Given the description of an element on the screen output the (x, y) to click on. 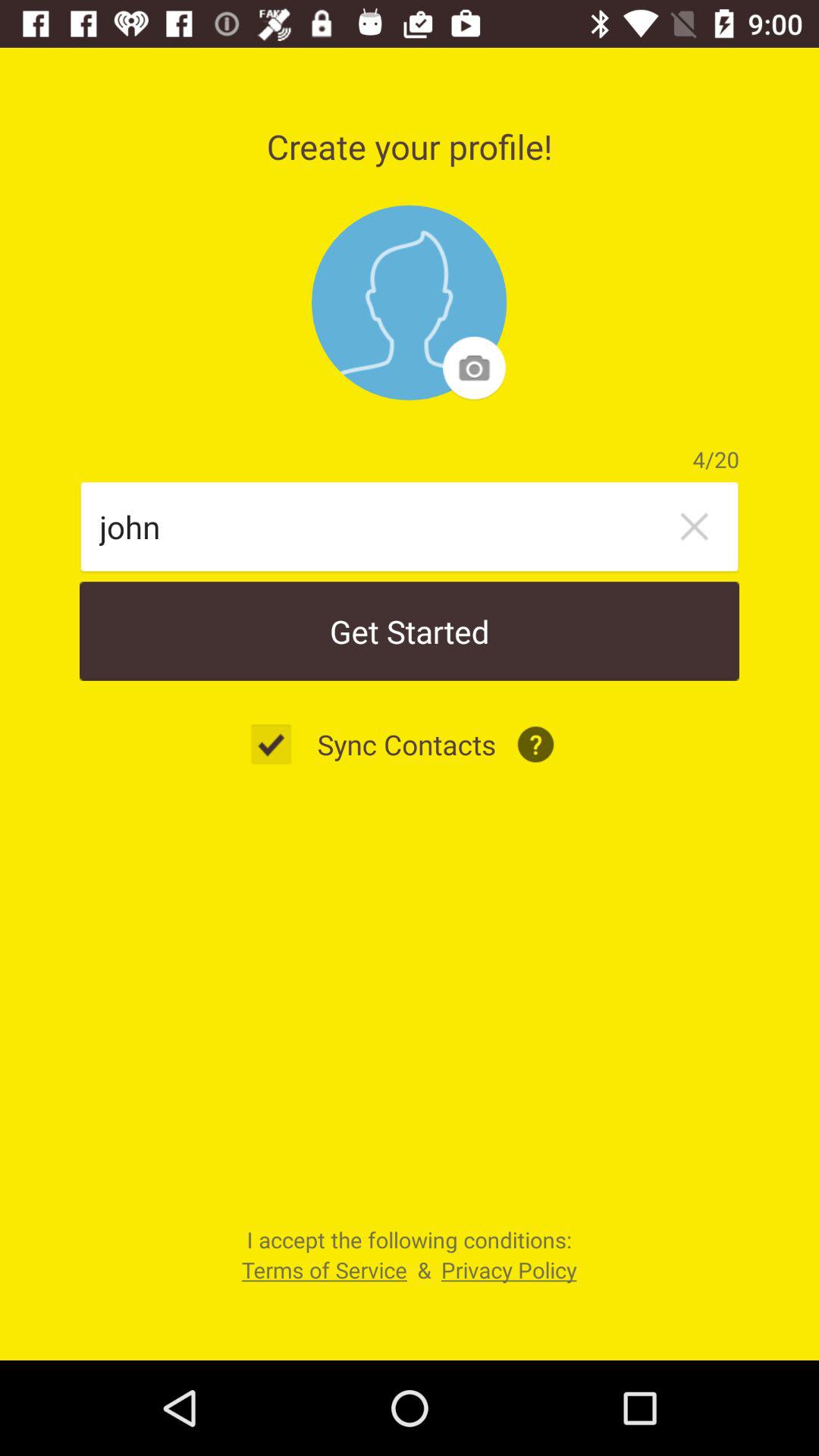
open item below the create your profile! icon (408, 302)
